Given the description of an element on the screen output the (x, y) to click on. 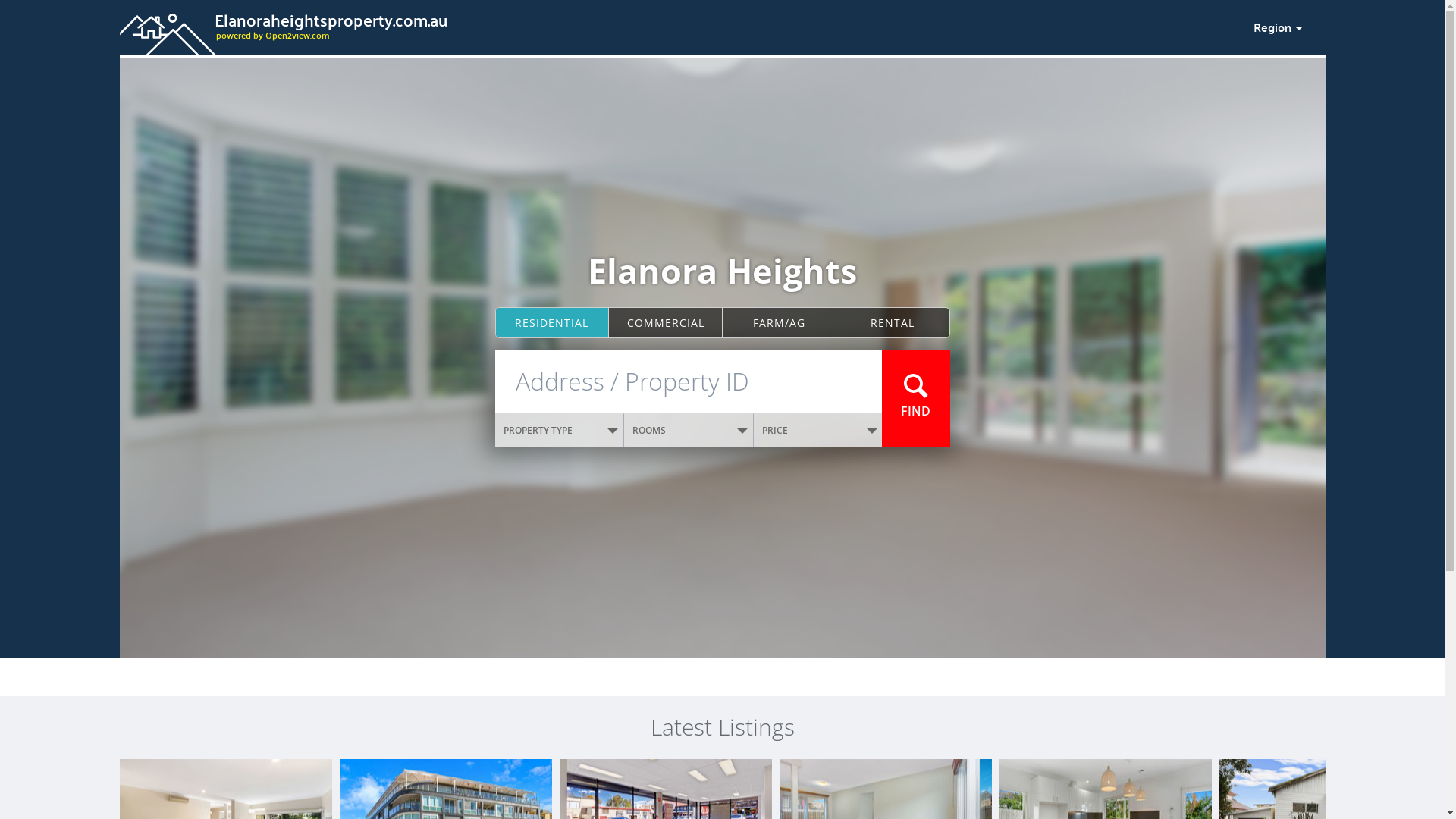
ROOMS Element type: text (688, 430)
PRICE Element type: text (817, 430)
PROPERTY TYPE Element type: text (559, 430)
Elanoraheightsproperty.com.au
powered by Open2view.com Element type: text (676, 25)
